Given the description of an element on the screen output the (x, y) to click on. 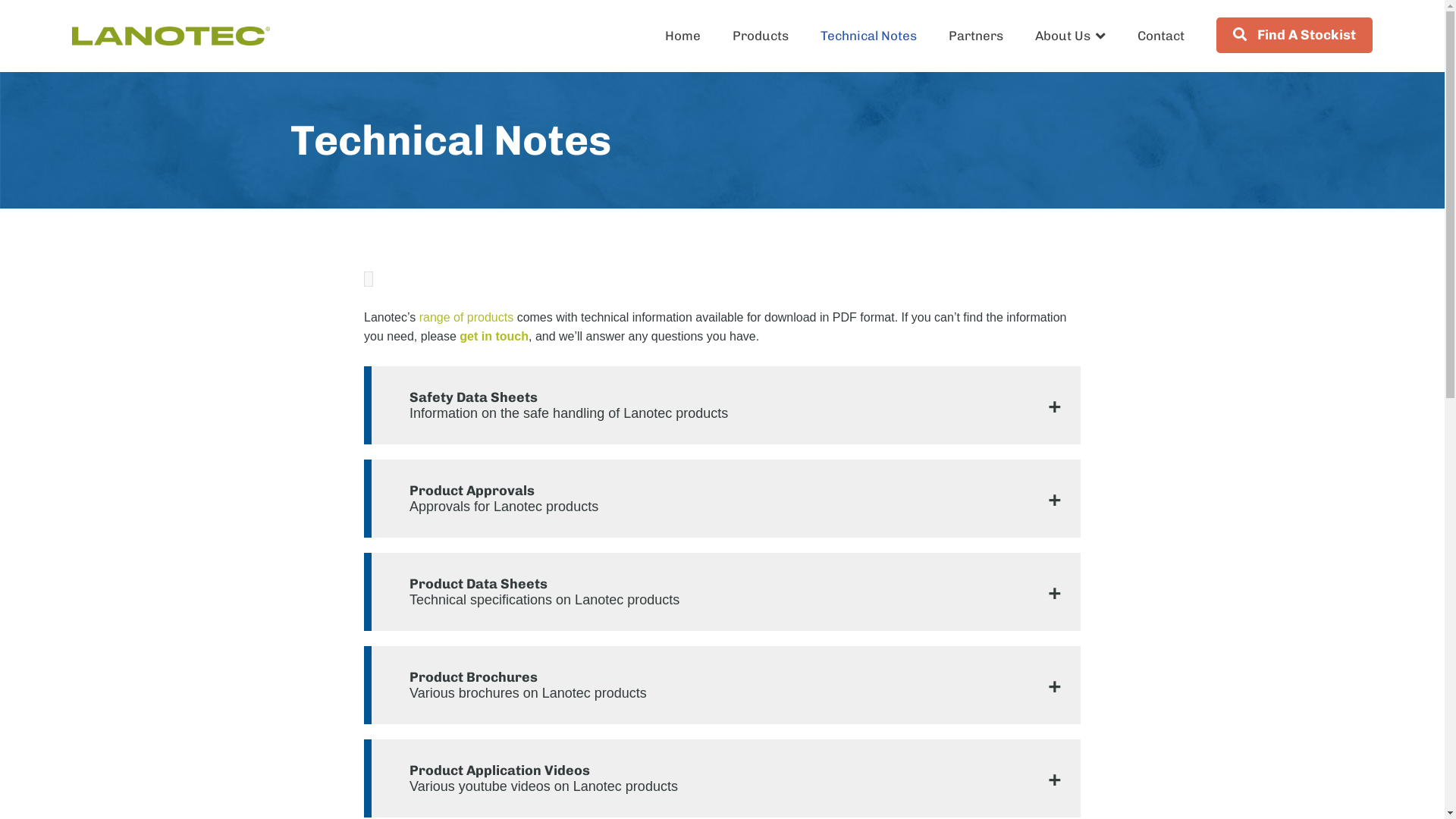
Technical Notes Element type: text (868, 35)
range of products Element type: text (466, 316)
GET IN TOUCH Element type: text (1239, 355)
Products Element type: text (760, 35)
Partners Element type: text (975, 35)
get in touch Element type: text (493, 335)
About Us Element type: text (1070, 35)
Find A Stockist Element type: text (1294, 35)
Contact Element type: text (1160, 35)
Home Element type: text (682, 35)
